Given the description of an element on the screen output the (x, y) to click on. 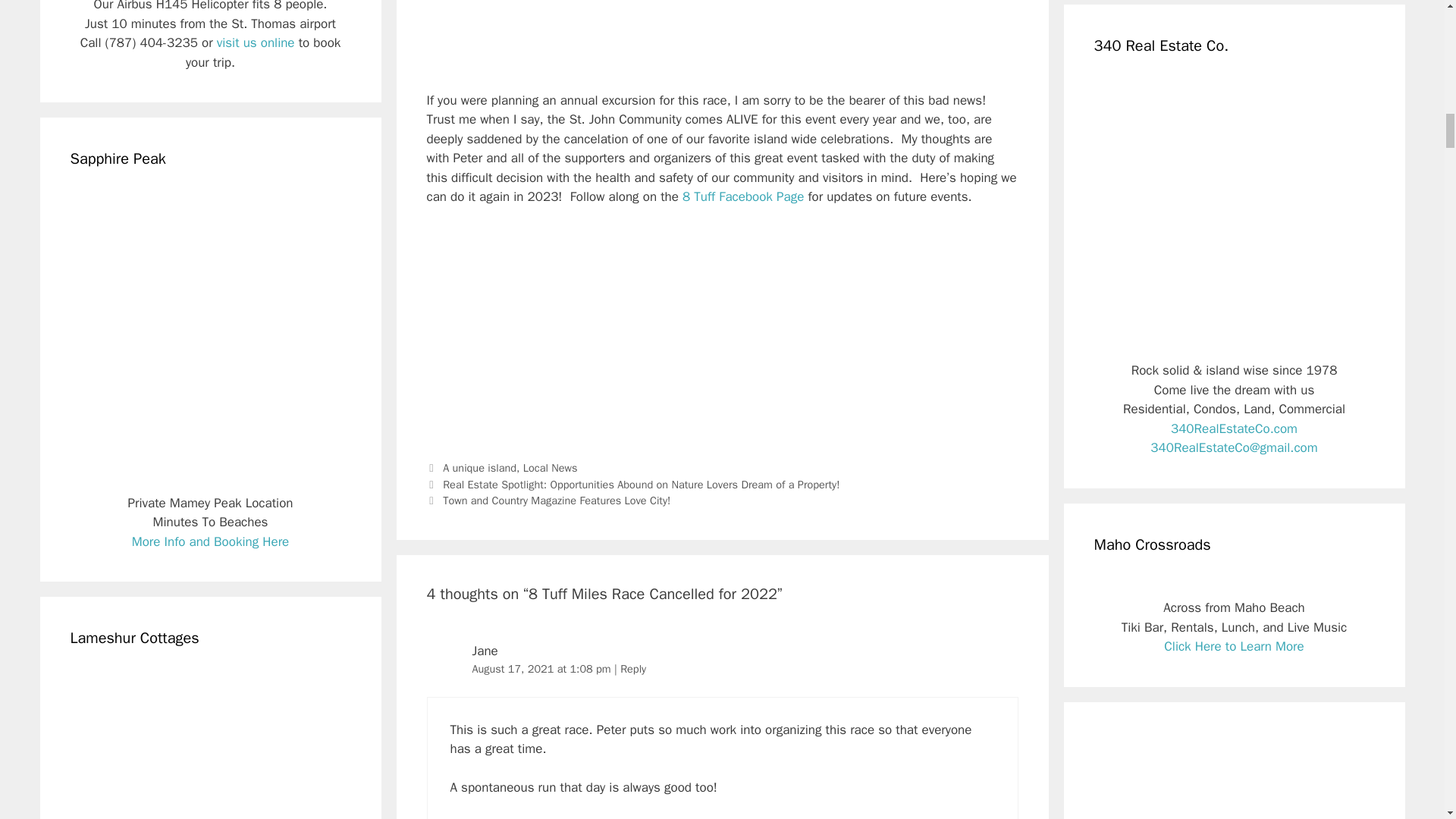
Local News (550, 468)
Town and Country Magazine Features Love City! (555, 499)
A unique island (479, 468)
8 Tuff Facebook Page (742, 196)
Reply (633, 668)
Next (547, 499)
Previous (633, 484)
August 17, 2021 at 1:08 pm (542, 668)
